Given the description of an element on the screen output the (x, y) to click on. 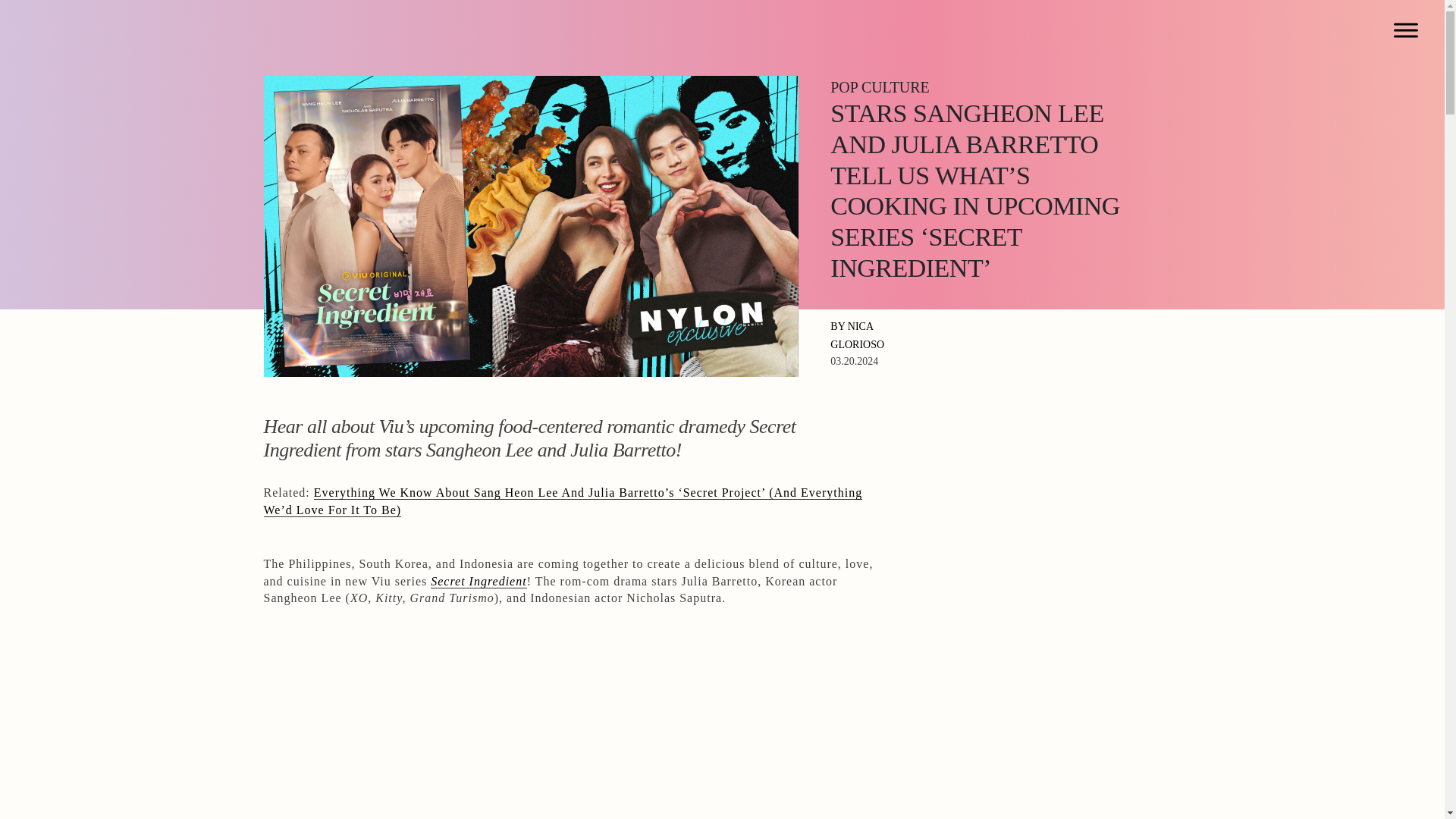
Secret Ingredient (477, 581)
POP CULTURE (878, 88)
BY NICA GLORIOSO (856, 334)
